Given the description of an element on the screen output the (x, y) to click on. 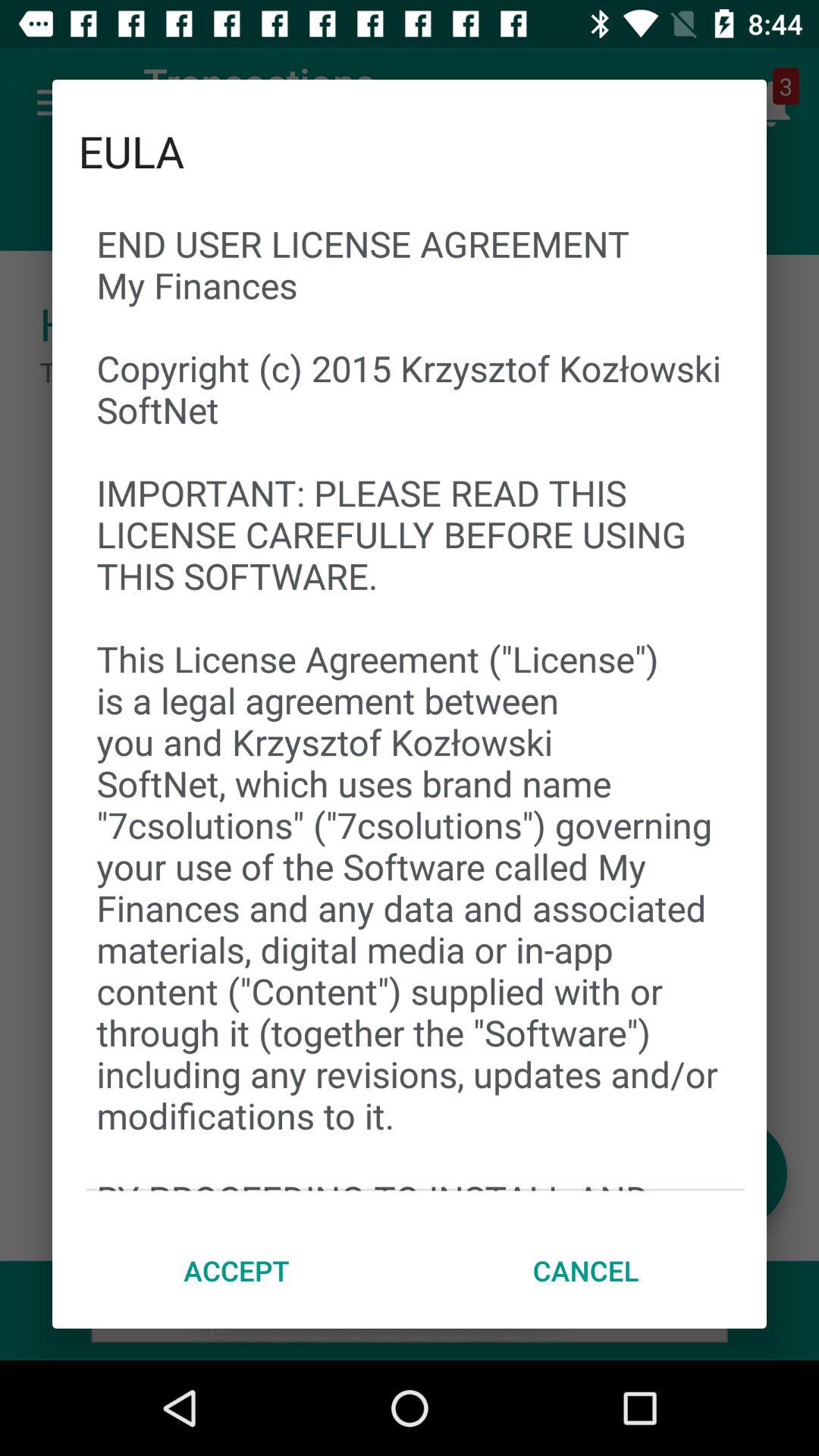
jump to the cancel item (585, 1270)
